Given the description of an element on the screen output the (x, y) to click on. 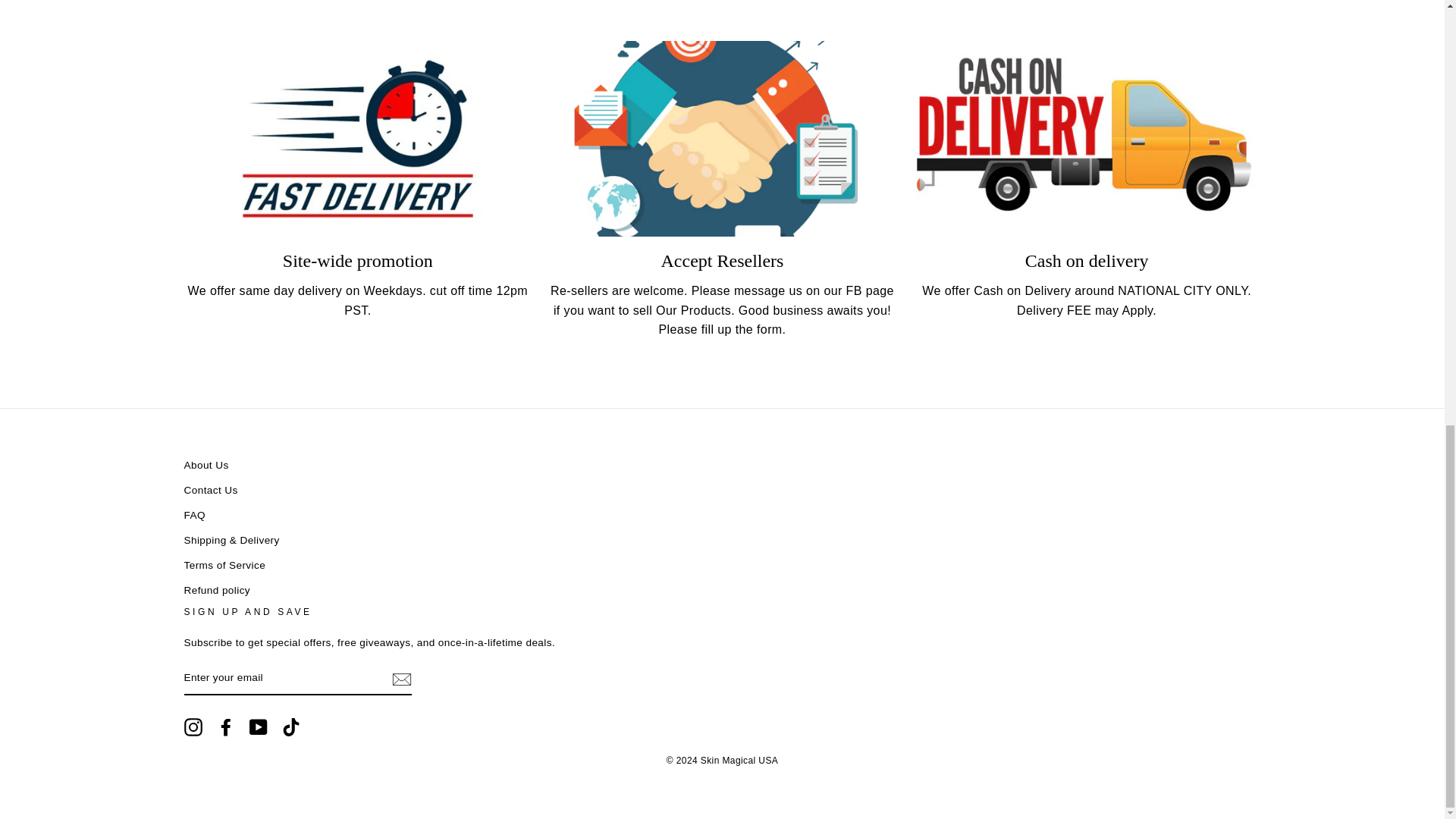
Skin Magical USA on Facebook (225, 727)
Skin Magical USA on TikTok (290, 727)
Skin Magical USA on YouTube (257, 727)
Skin Magical USA on Instagram (192, 727)
